Given the description of an element on the screen output the (x, y) to click on. 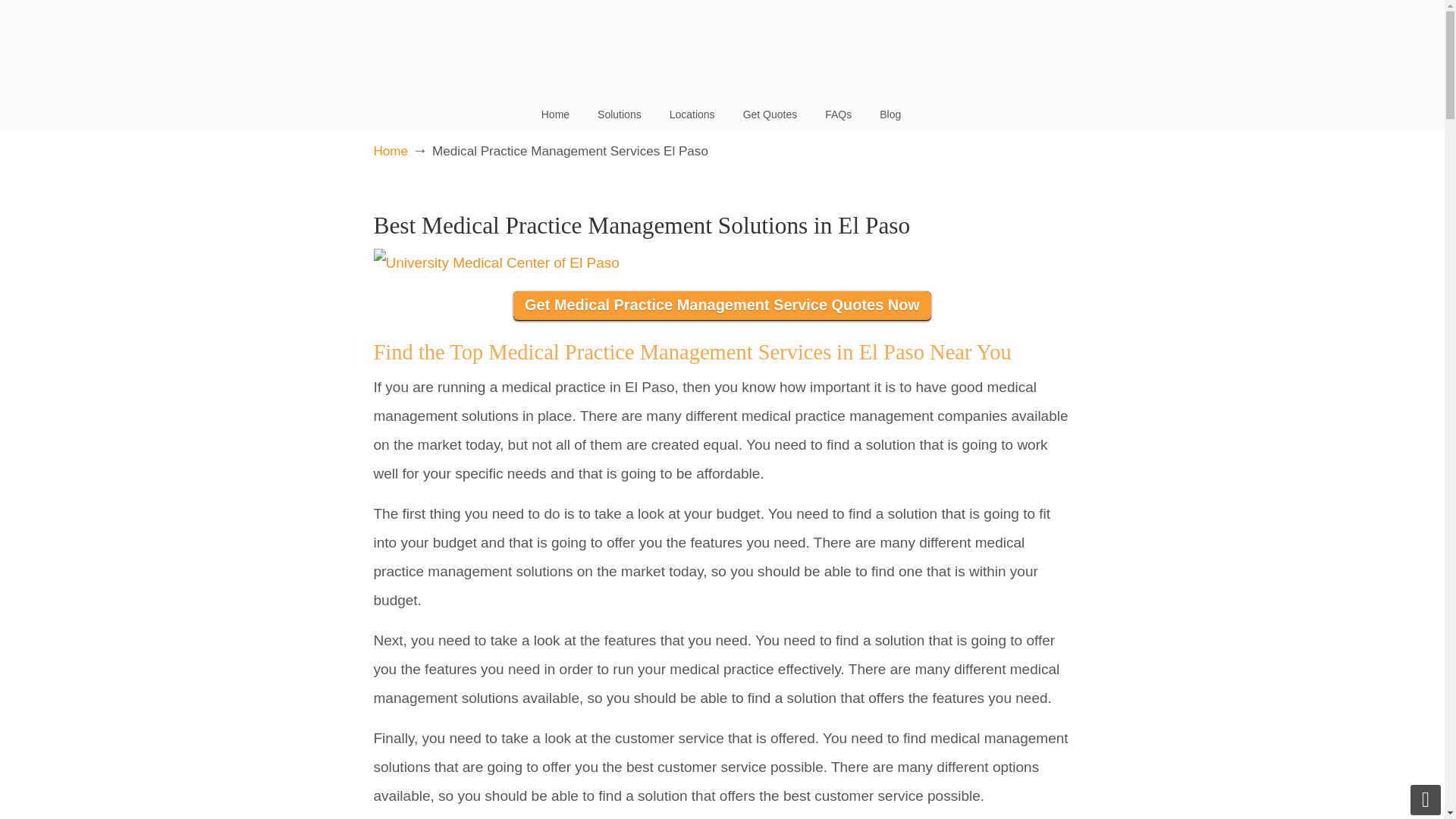
Blog (889, 114)
Home (555, 114)
FAQs (837, 114)
Locations (691, 114)
Get Quotes (770, 114)
Quality Medical Practice Management Solutions (721, 42)
Solutions (619, 114)
Home (389, 151)
Quality Medical Practice Management Solutions (721, 42)
Get Free Medical Practice Management Service Quotes (722, 306)
Get Medical Practice Management Service Quotes Now (722, 306)
